Given the description of an element on the screen output the (x, y) to click on. 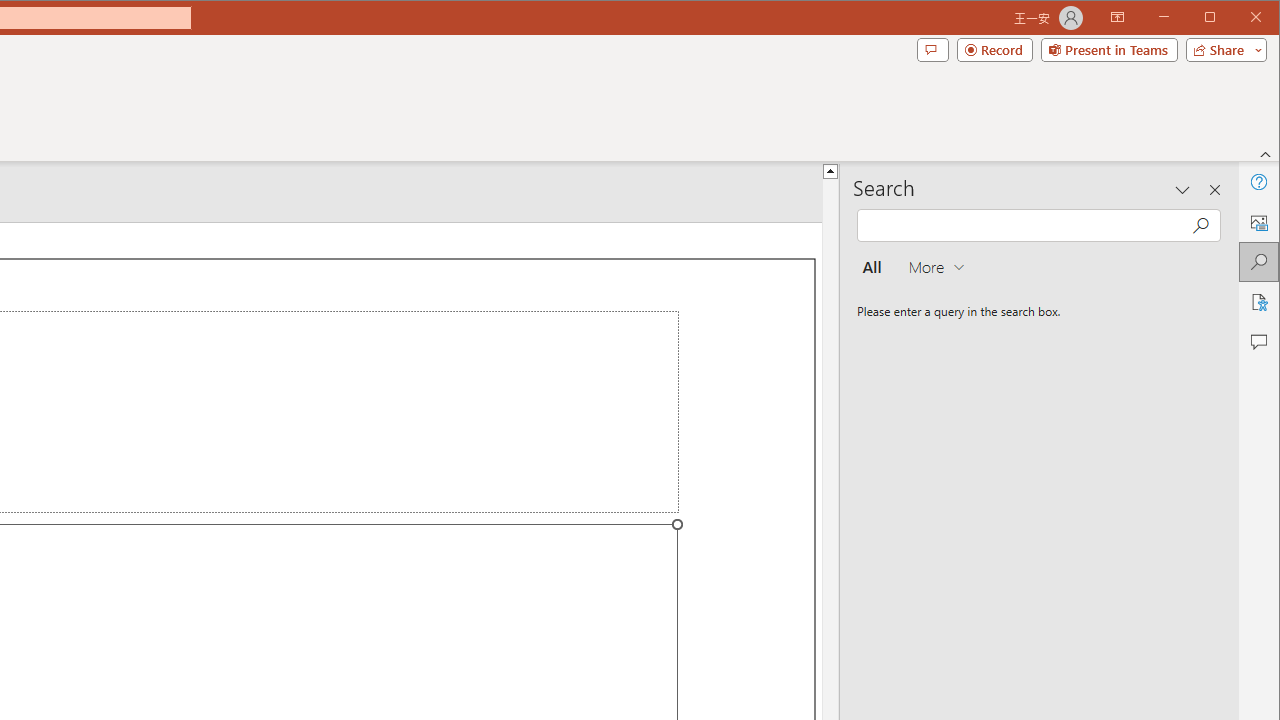
Line up (829, 170)
